Given the description of an element on the screen output the (x, y) to click on. 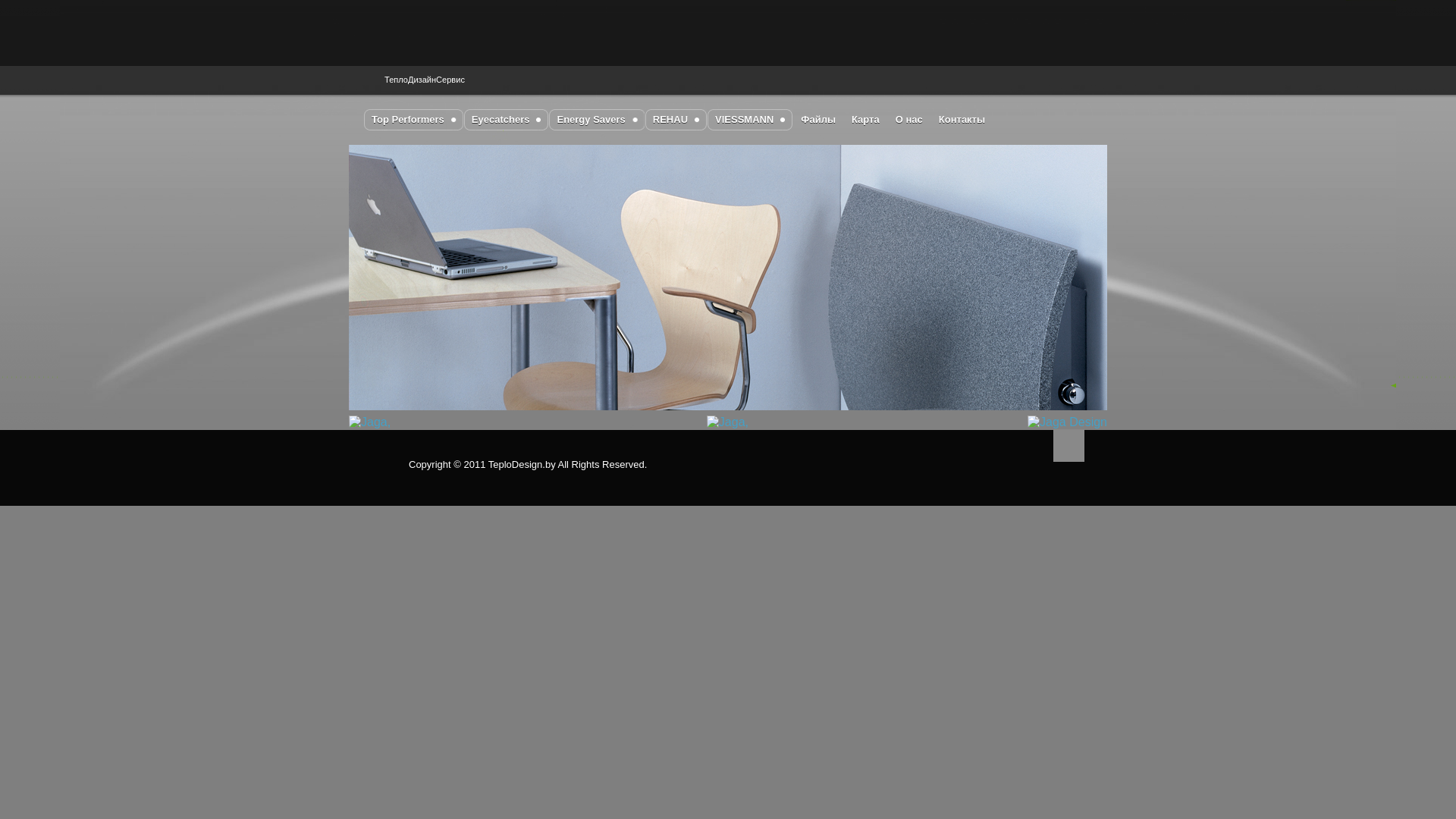
Top Performers Element type: text (413, 119)
DataLife Engine - Softnews Media Group Element type: text (471, 36)
Eyecatchers Element type: text (506, 119)
DataLife Engine - Softnews Media Group Element type: text (384, 457)
Energy Savers Element type: text (596, 119)
< Element type: text (1095, 281)
> Element type: text (360, 281)
REHAU Element type: text (675, 119)
TeploDesign.by Element type: text (521, 464)
VIESSMANN Element type: text (749, 119)
